Given the description of an element on the screen output the (x, y) to click on. 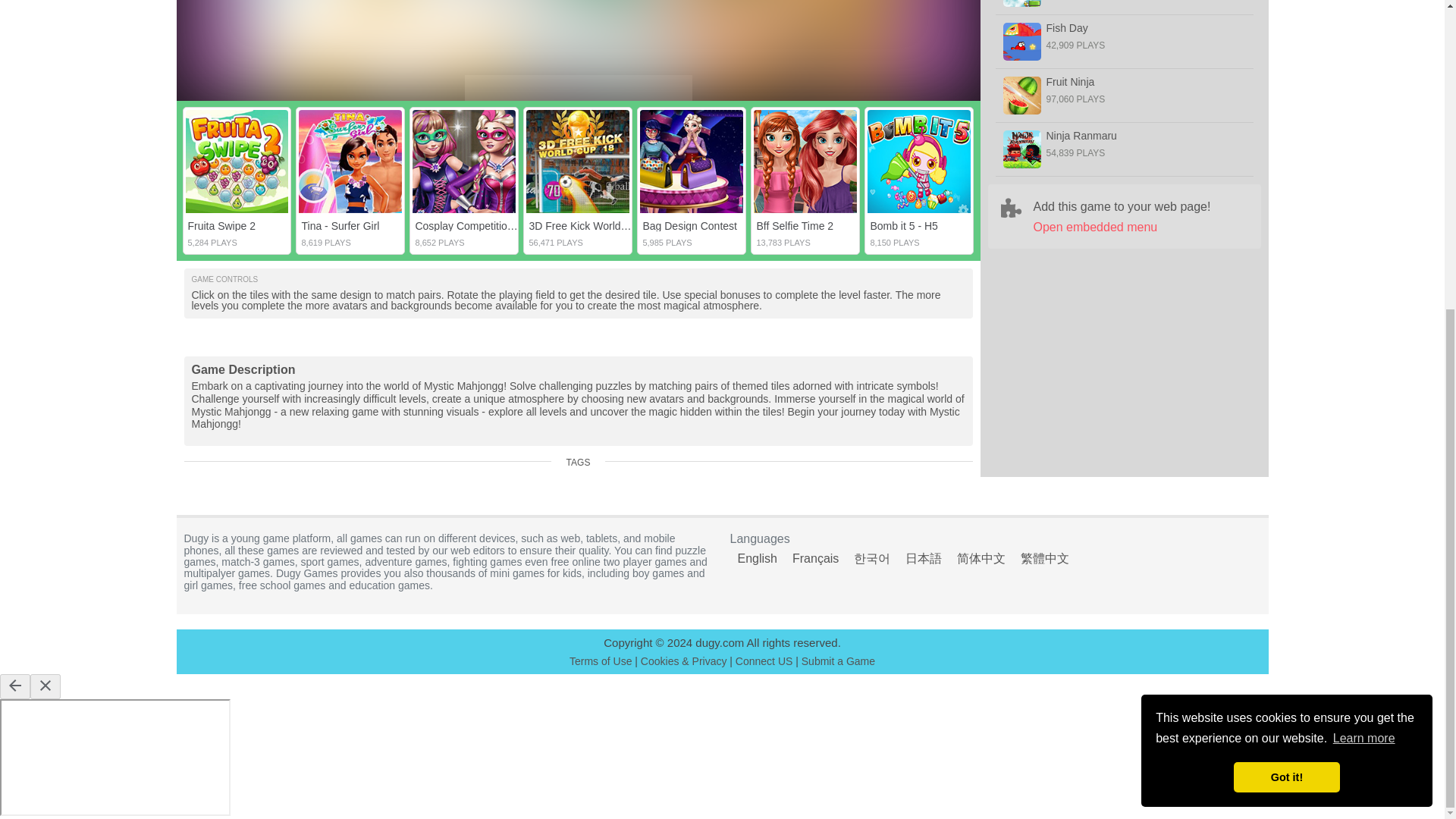
Got it! (1286, 287)
Learn more (1363, 249)
